Given the description of an element on the screen output the (x, y) to click on. 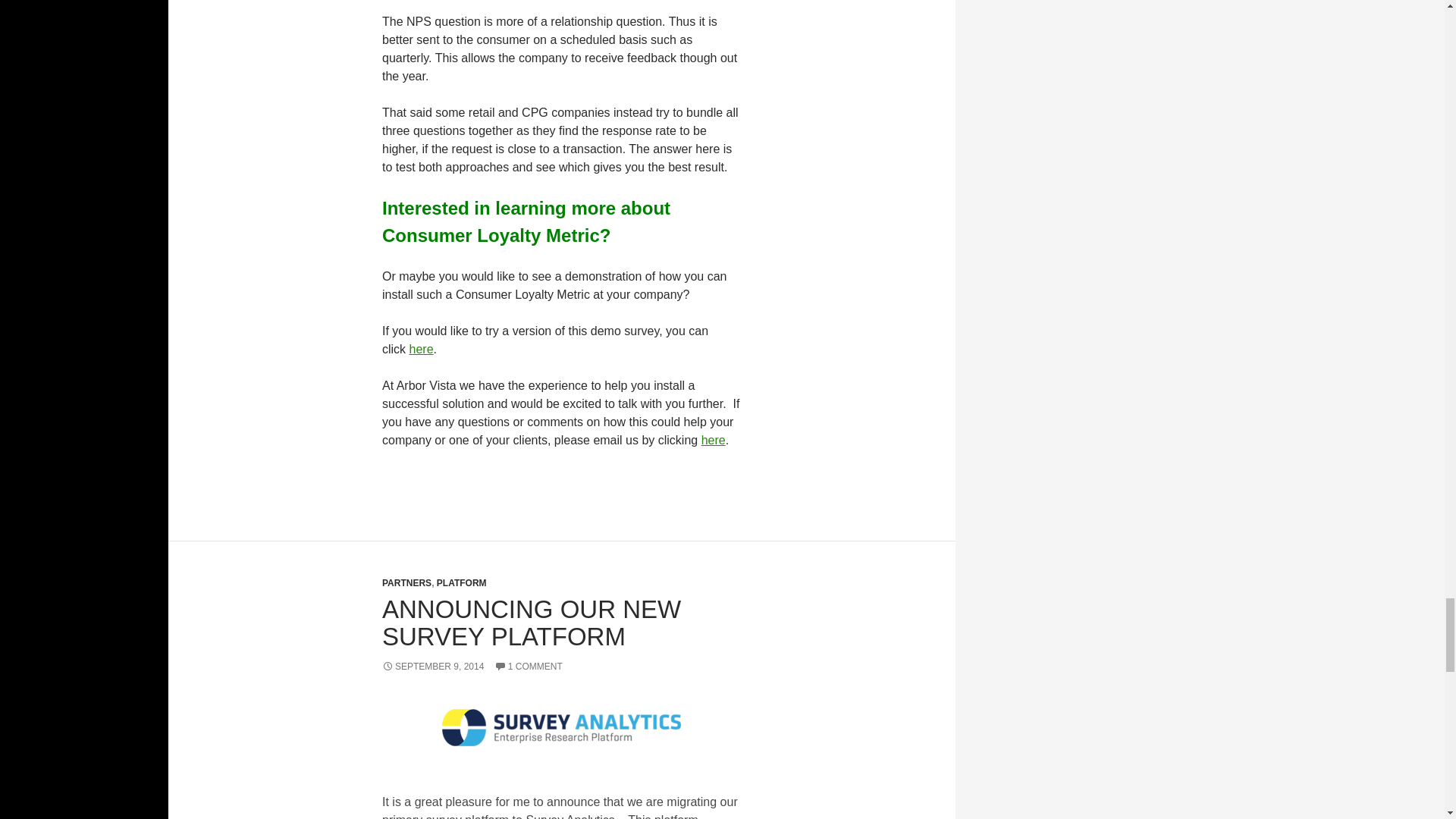
Click to demo this survey (421, 349)
More Information on Consumer Loyalty (713, 440)
